Given the description of an element on the screen output the (x, y) to click on. 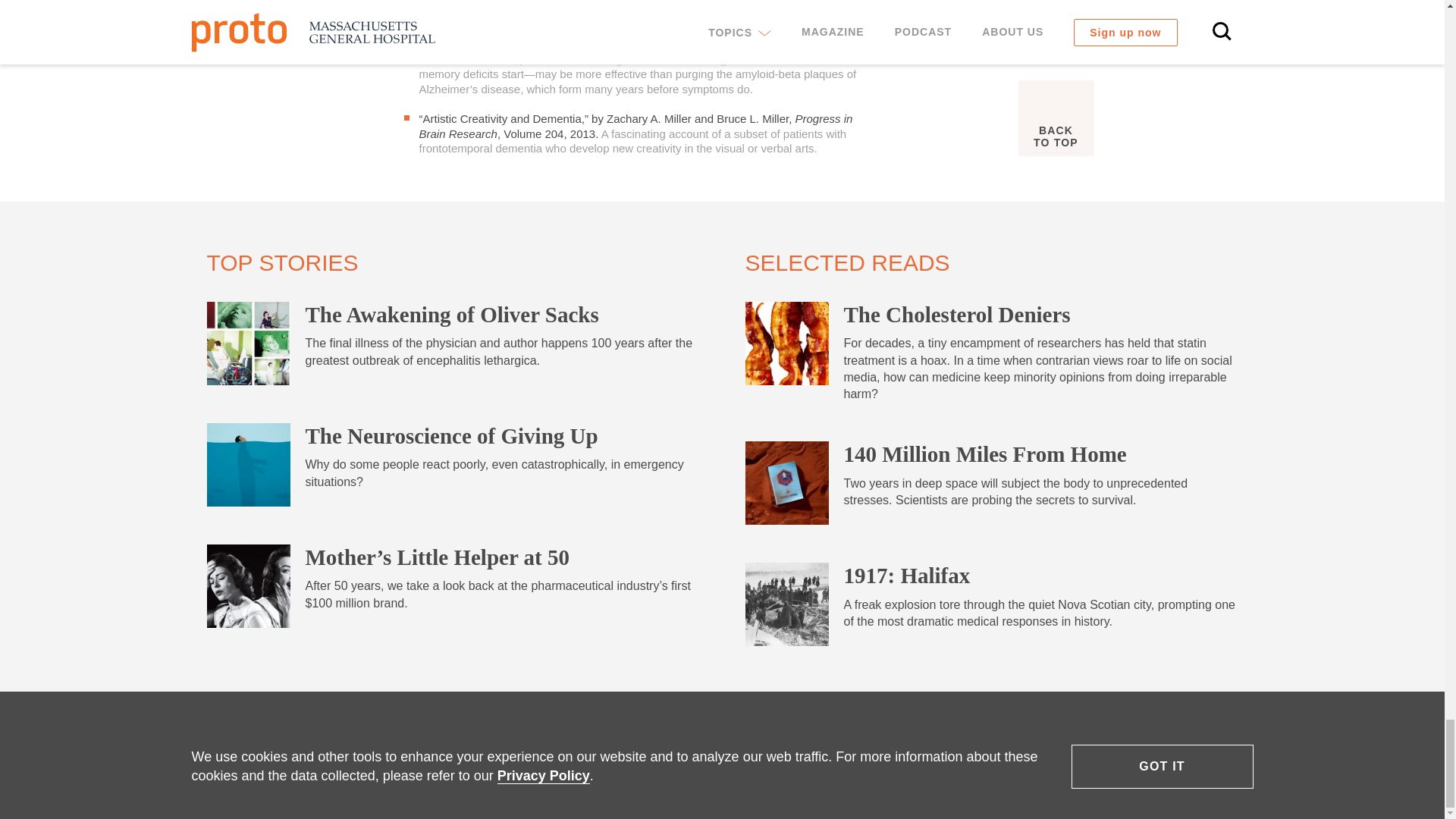
Proto Magazine (311, 741)
